Given the description of an element on the screen output the (x, y) to click on. 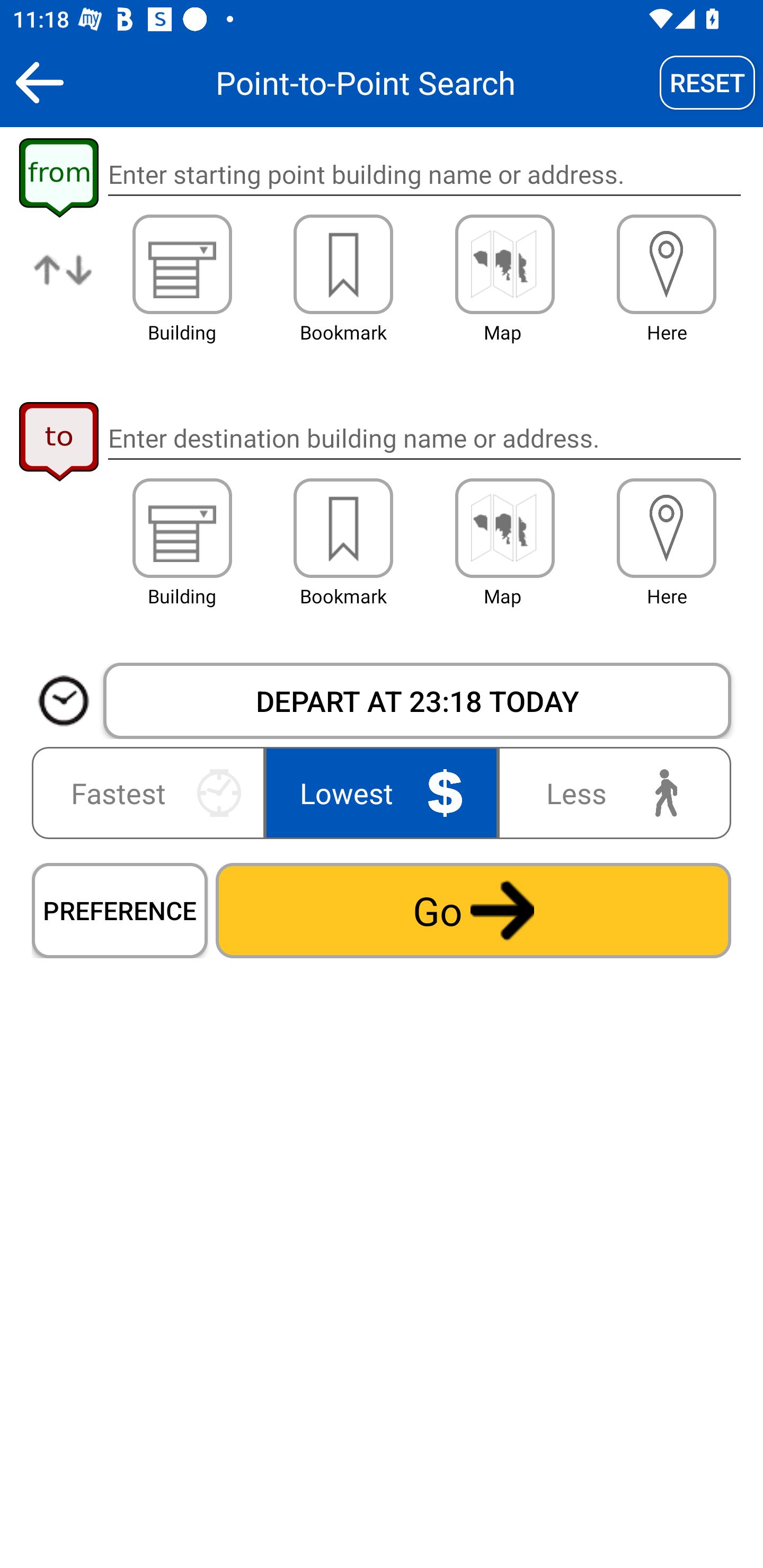
Back (39, 82)
RESET Reset (707, 81)
Enter starting point building name or address. (423, 174)
Building (181, 263)
Bookmarks (342, 263)
Select location on map (504, 263)
Here (666, 263)
Swap origin and destination (63, 284)
Enter destination building name or address. (423, 437)
Building (181, 528)
Bookmarks (342, 528)
Select location on map (504, 528)
Here (666, 528)
Lowest selected (381, 792)
Fastest (151, 792)
Less (610, 792)
PREFERENCE Preference (119, 910)
Go (472, 910)
